Given the description of an element on the screen output the (x, y) to click on. 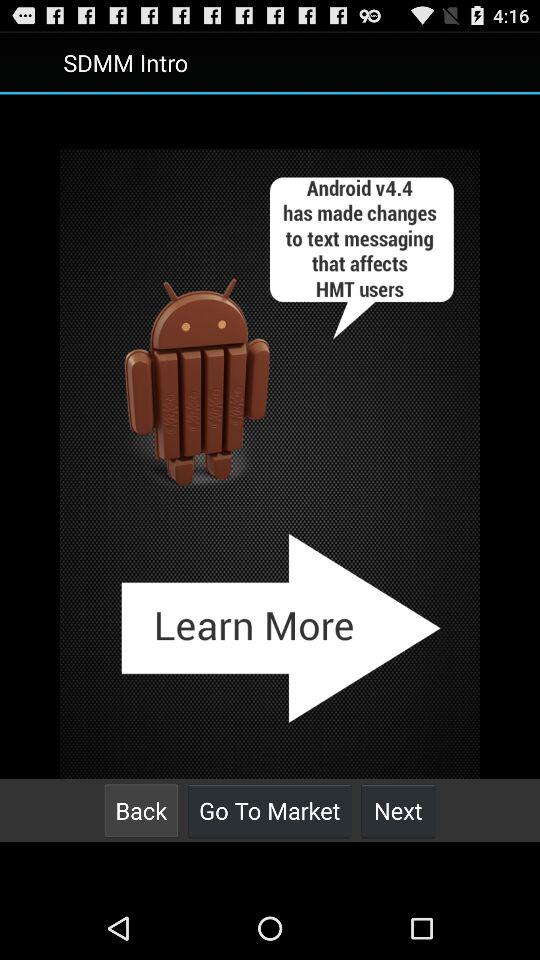
flip until the go to market icon (269, 810)
